Given the description of an element on the screen output the (x, y) to click on. 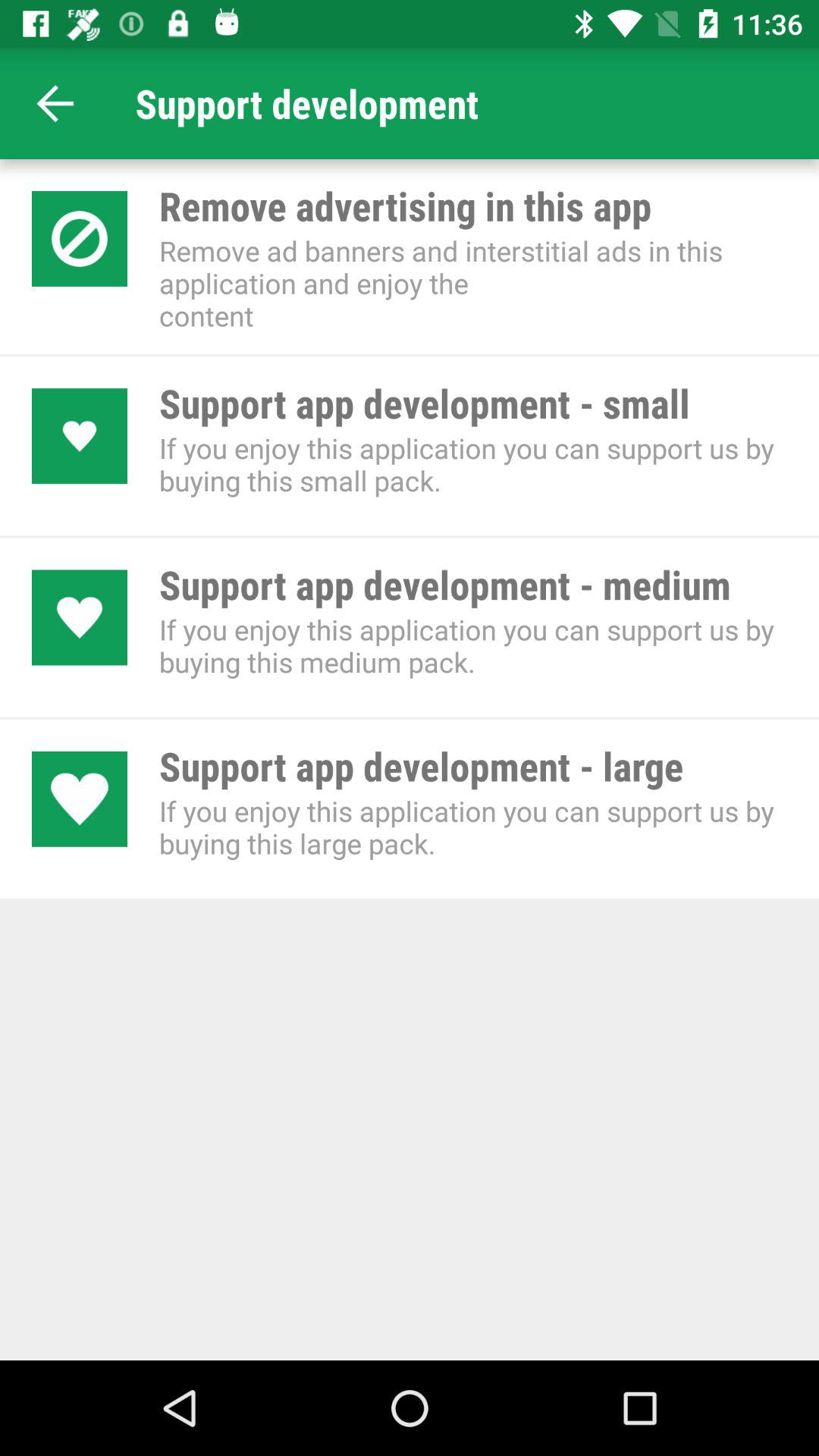
go back (55, 103)
